Given the description of an element on the screen output the (x, y) to click on. 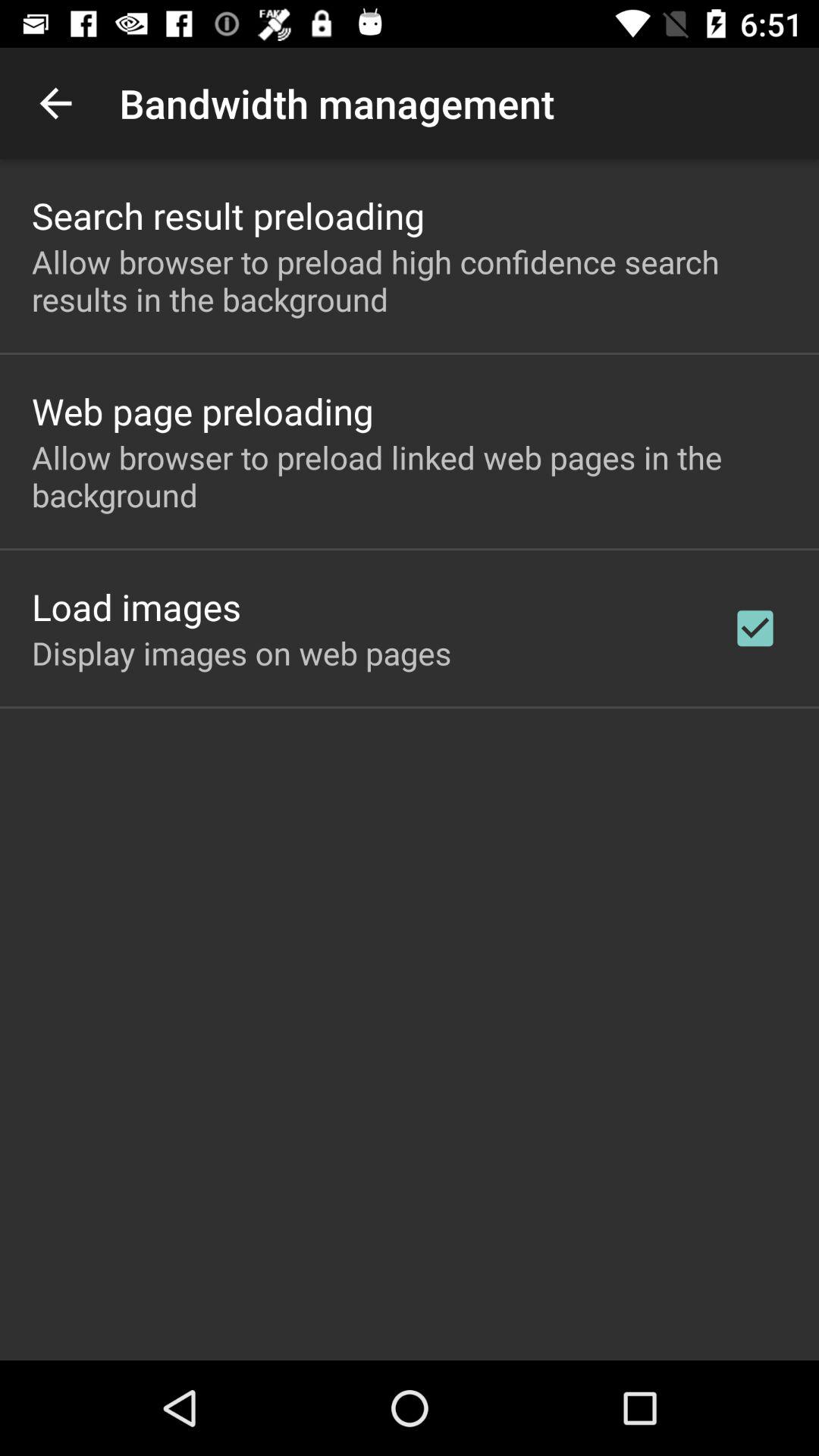
turn off the item above the search result preloading item (55, 103)
